Given the description of an element on the screen output the (x, y) to click on. 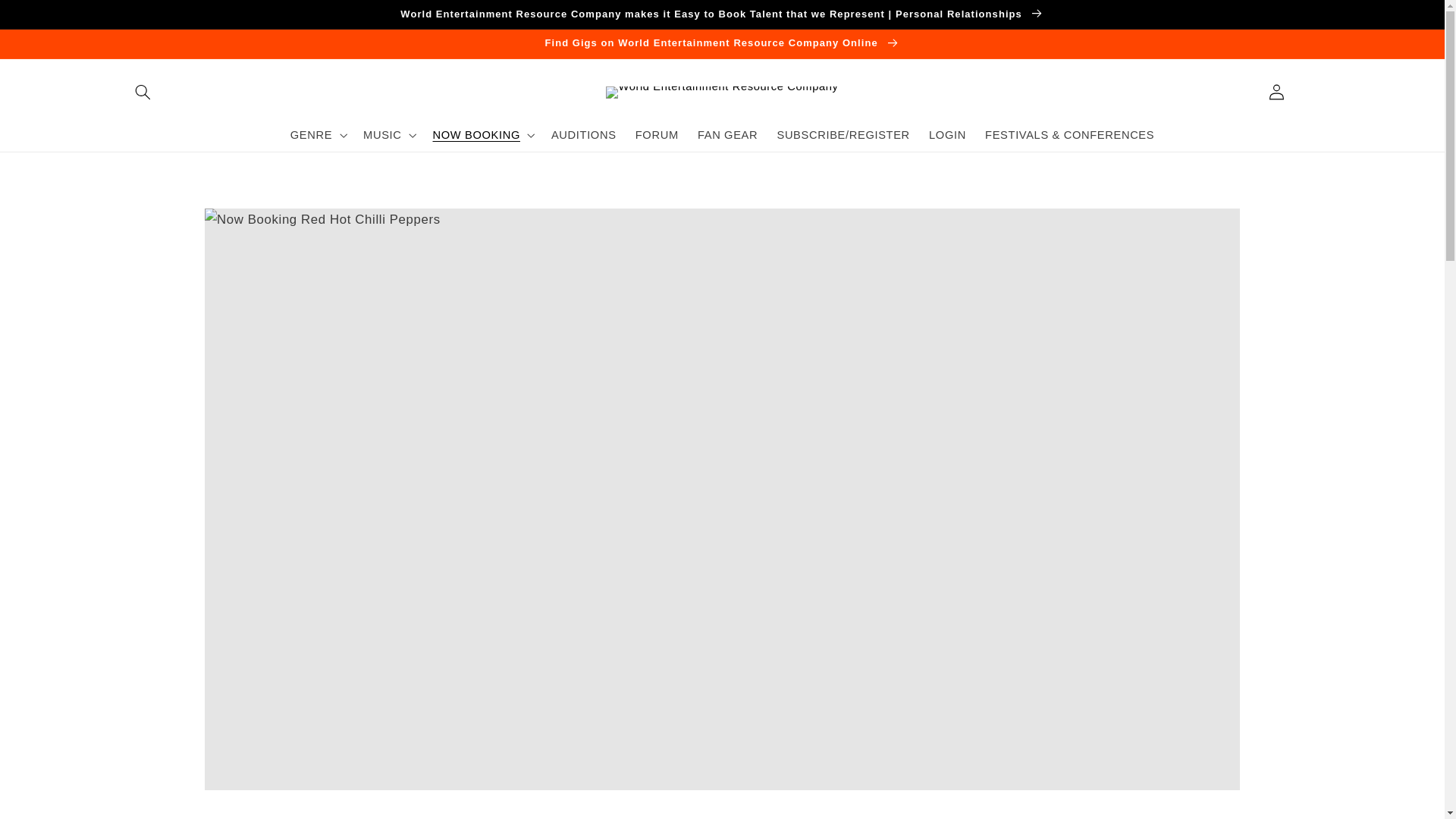
Cart (1311, 117)
Skip to content (47, 17)
